Given the description of an element on the screen output the (x, y) to click on. 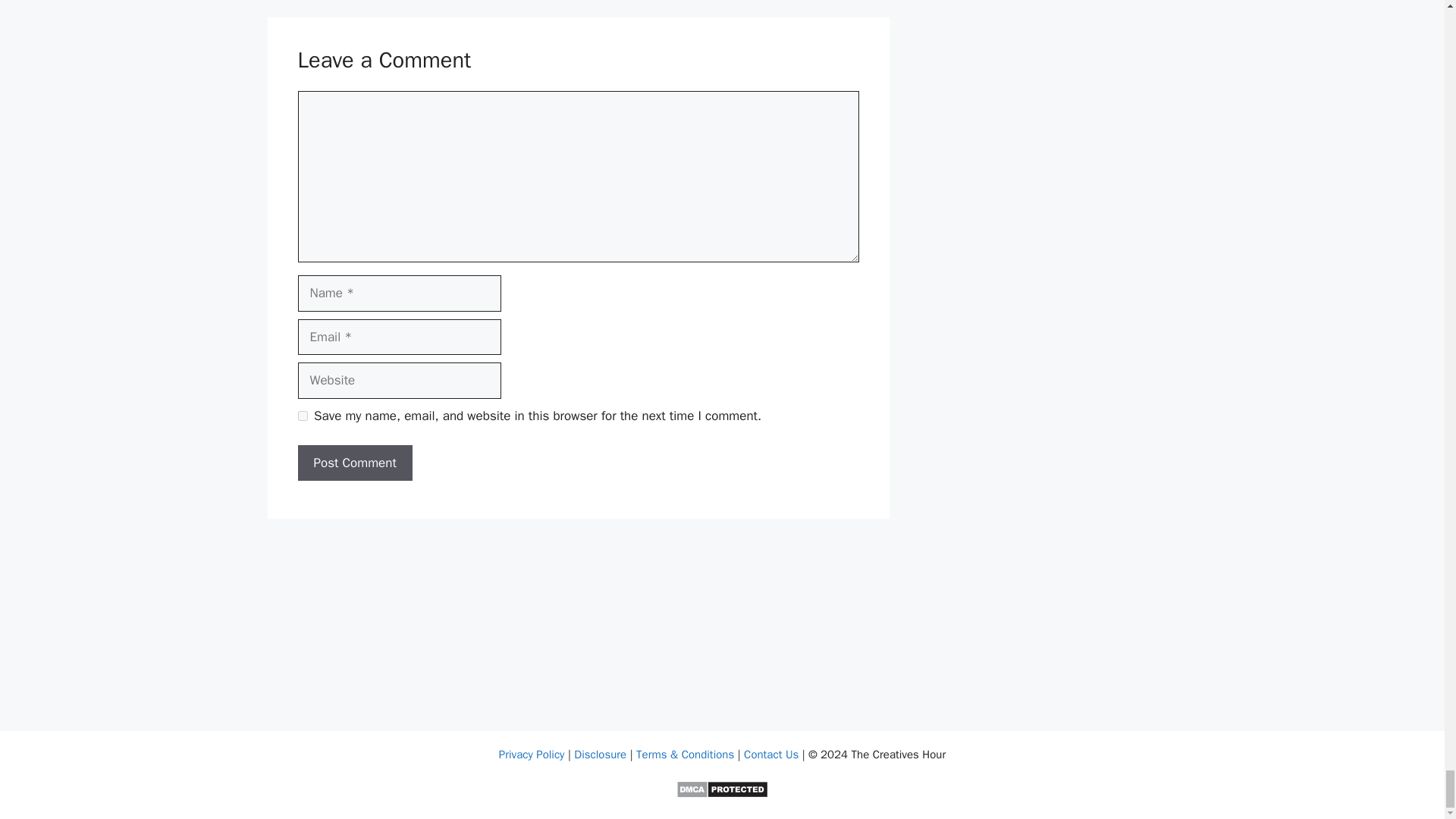
Post Comment (354, 463)
yes (302, 415)
DMCA.com Protection Status (722, 794)
